Given the description of an element on the screen output the (x, y) to click on. 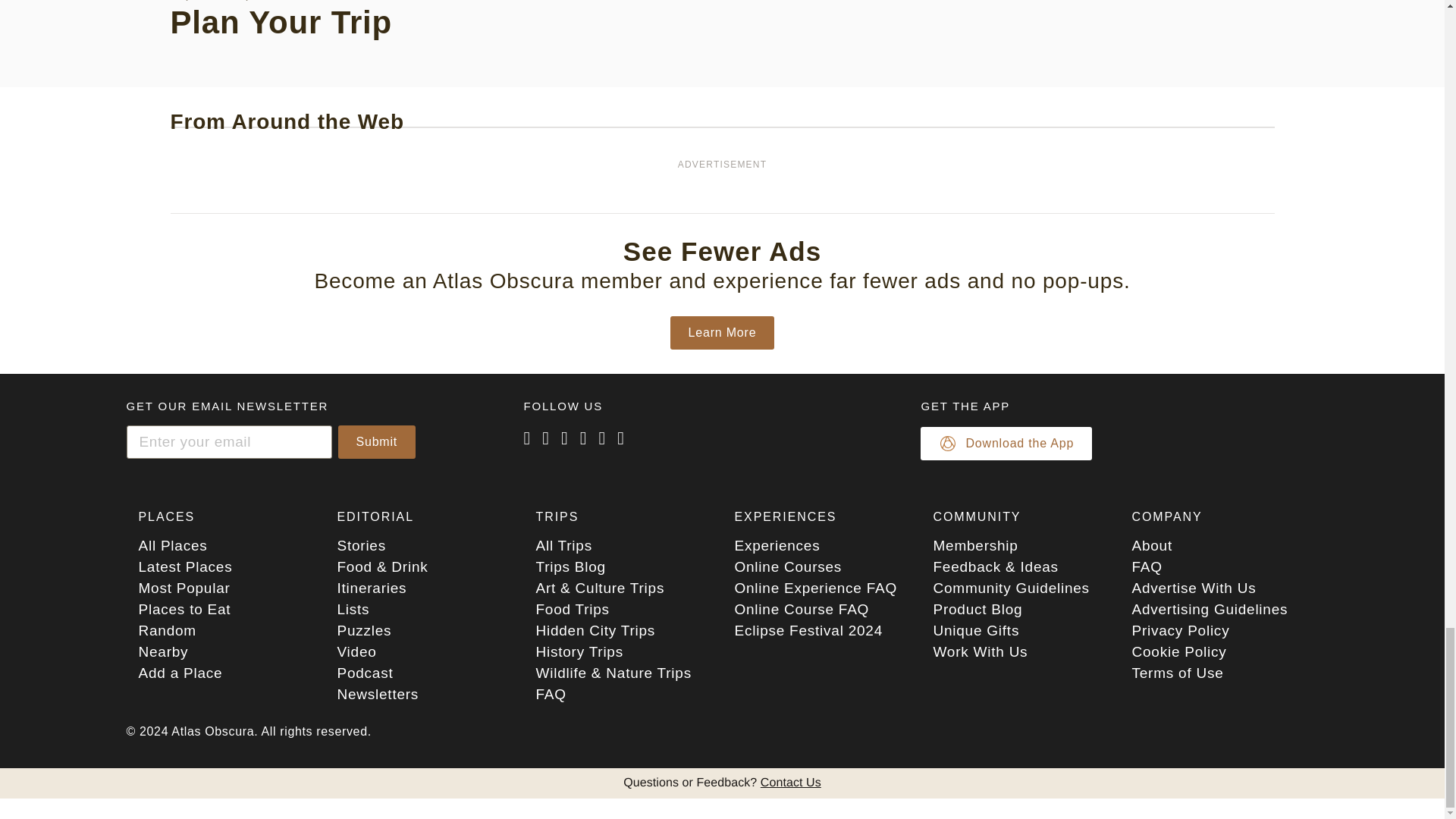
Submit (376, 441)
